Given the description of an element on the screen output the (x, y) to click on. 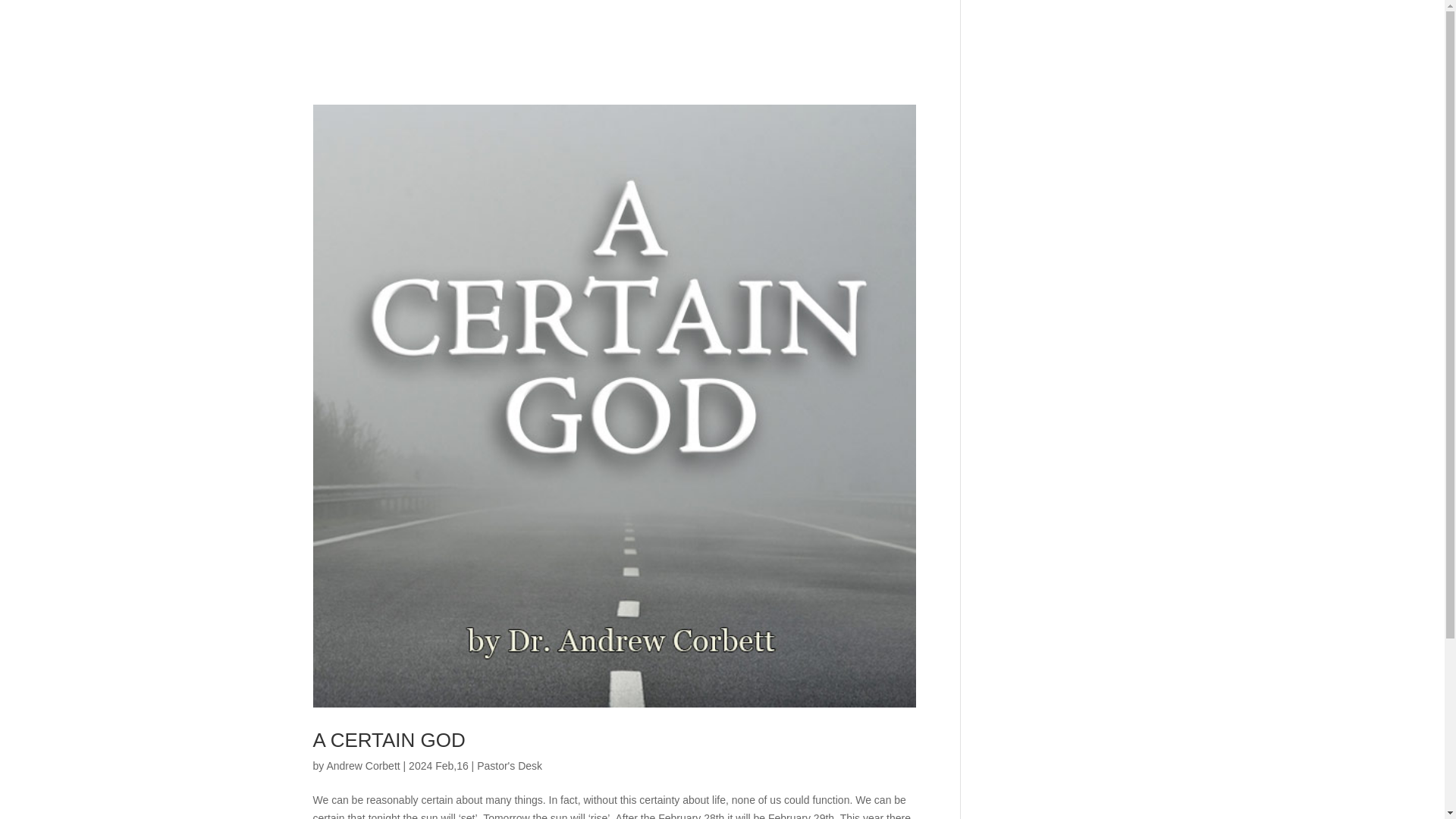
Andrew Corbett (362, 766)
Posts by Andrew Corbett (362, 766)
Pastor's Desk (509, 766)
A CERTAIN GOD (388, 739)
